Given the description of an element on the screen output the (x, y) to click on. 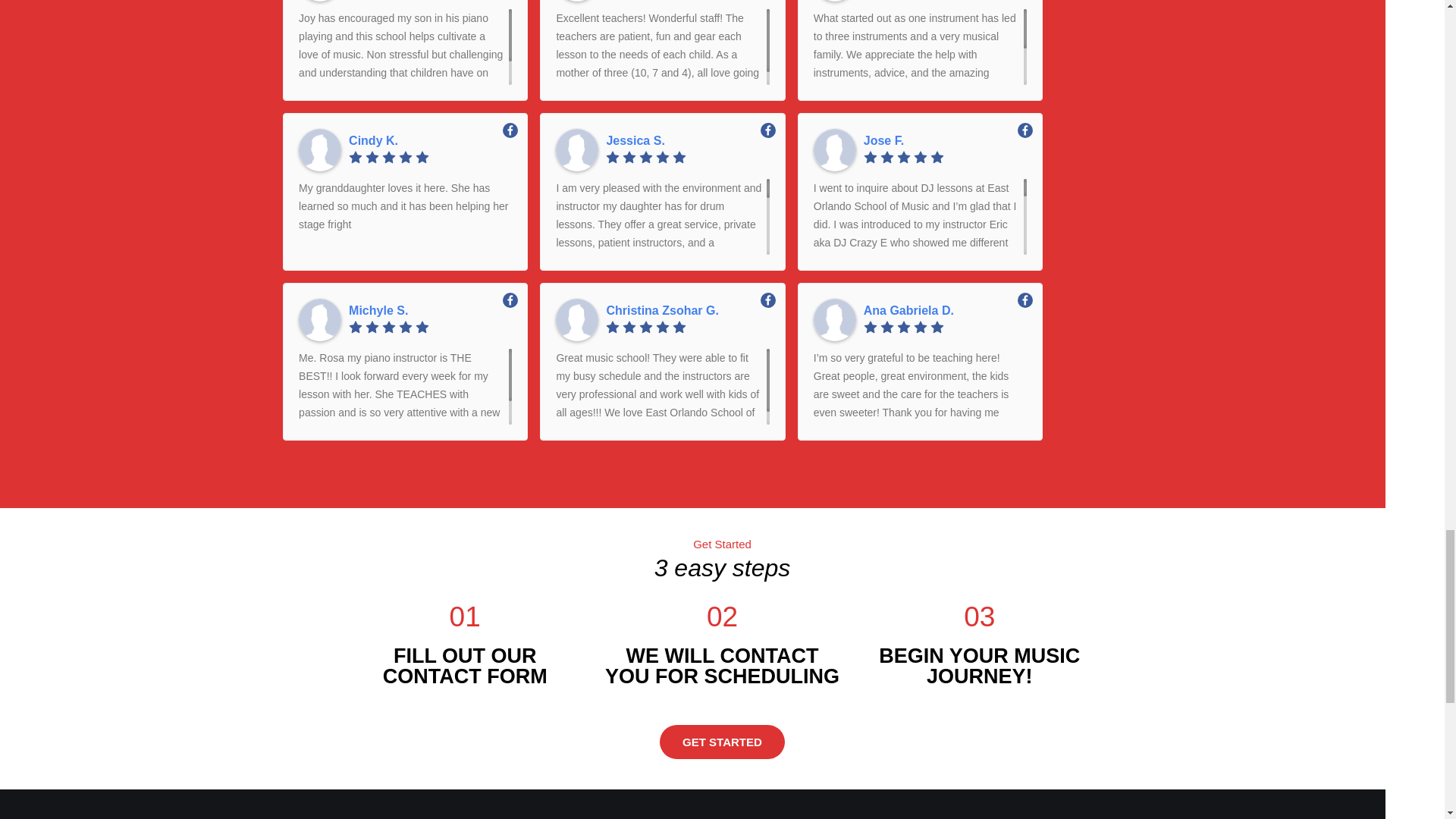
Michyle S. (430, 310)
Cindy Kirkwood (319, 149)
Ana Gabriela D. (944, 310)
Jessica Shewolf (577, 149)
Jessica S. (686, 141)
Jose F. (944, 141)
Michyle S. (430, 310)
Jose F. (944, 141)
Christina Zsohar G. (686, 310)
Michele Belcher (577, 0)
Cindy K. (430, 141)
Michyle Snow-Cowens (319, 319)
GET STARTED (721, 741)
Jessica S. (686, 141)
Melissa L. Marantes (319, 0)
